Given the description of an element on the screen output the (x, y) to click on. 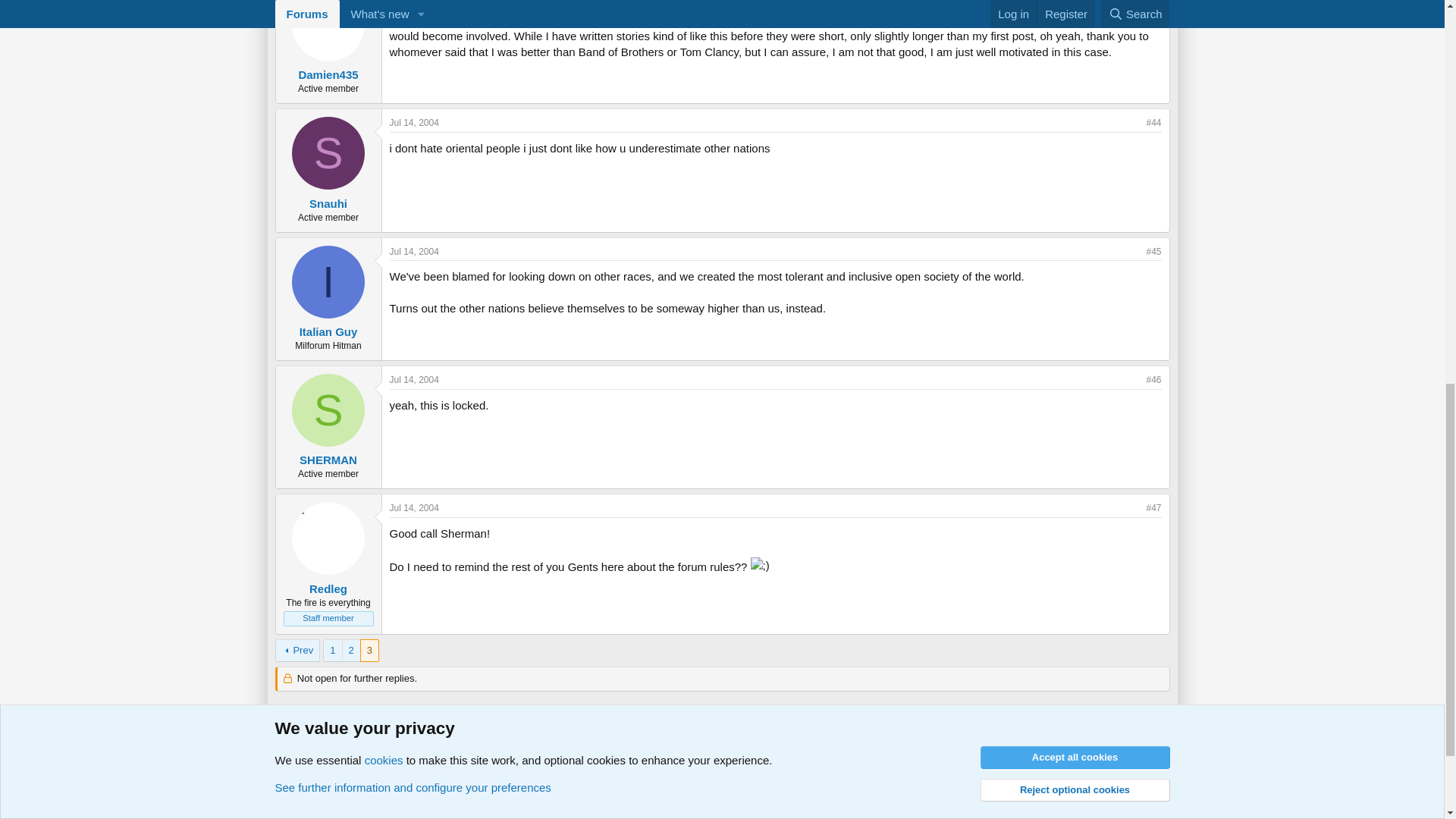
Jul 14, 2004 at 7:30 PM (414, 507)
Jul 14, 2004 at 6:30 PM (414, 379)
Jul 14, 2004 at 10:57 AM (414, 251)
Jul 14, 2004 at 9:33 AM (414, 122)
